Given the description of an element on the screen output the (x, y) to click on. 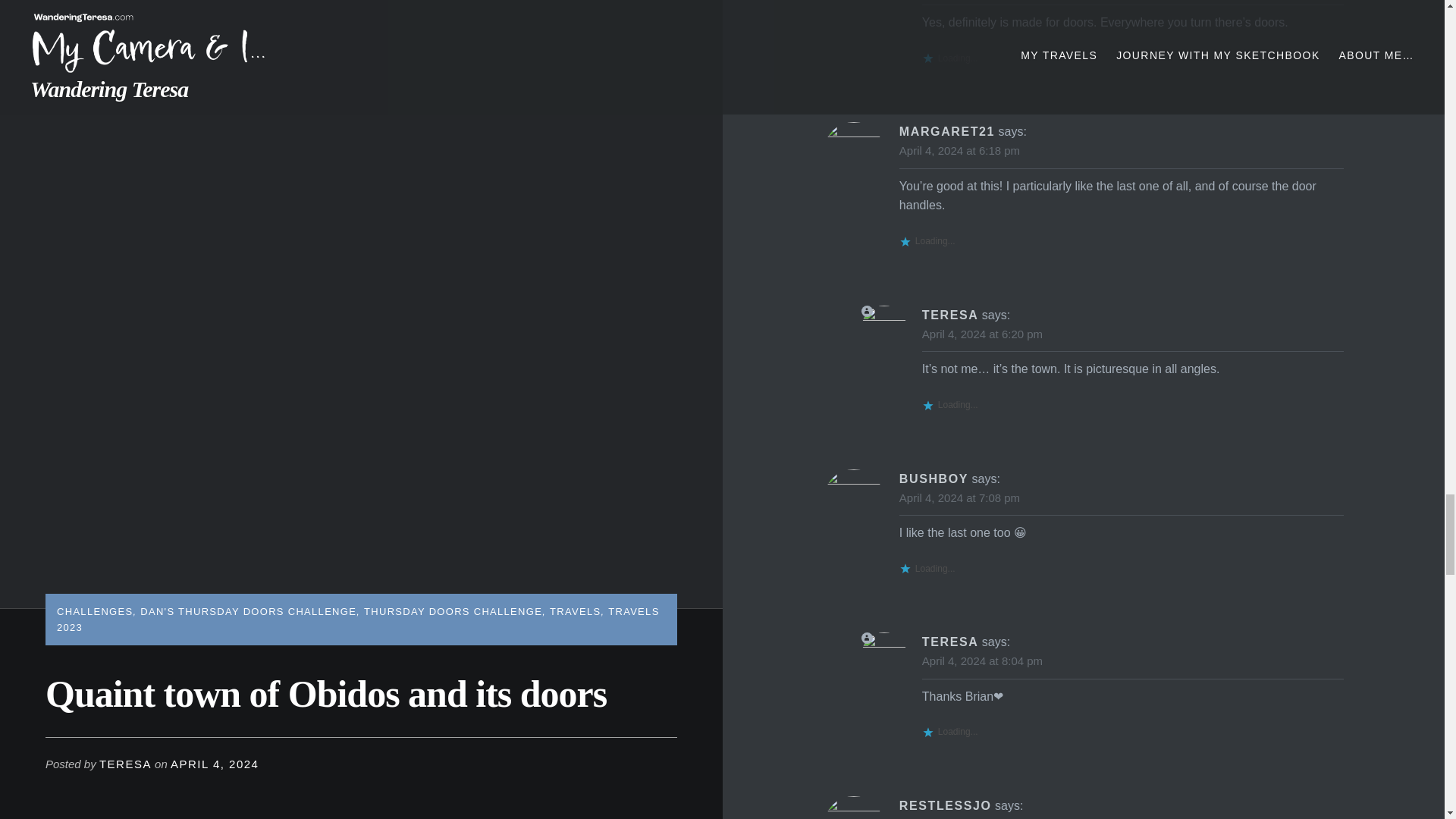
April 4, 2024 at 7:08 pm (959, 497)
April 4, 2024 at 6:20 pm (981, 333)
April 4, 2024 at 8:04 pm (981, 660)
BUSHBOY (933, 478)
MARGARET21 (946, 131)
April 4, 2024 at 6:18 pm (959, 150)
